Given the description of an element on the screen output the (x, y) to click on. 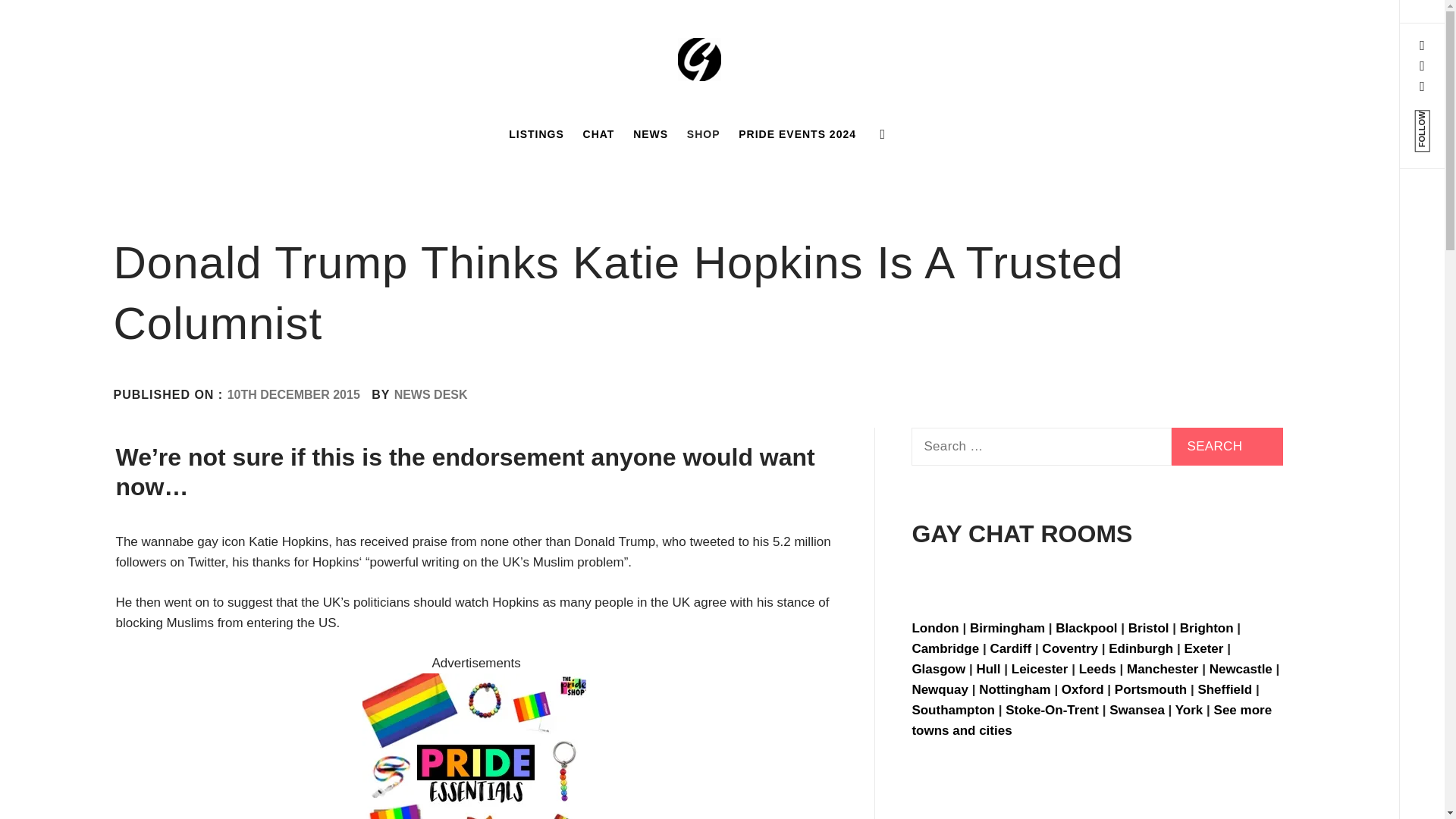
Search (646, 37)
Search (1227, 446)
Search (1227, 446)
CHAT (599, 134)
LISTINGS (536, 134)
PRIDE EVENTS 2024 (796, 134)
NEWS (650, 134)
10TH DECEMBER 2015 (293, 394)
SHOP (703, 134)
NEWS DESK (430, 394)
